Given the description of an element on the screen output the (x, y) to click on. 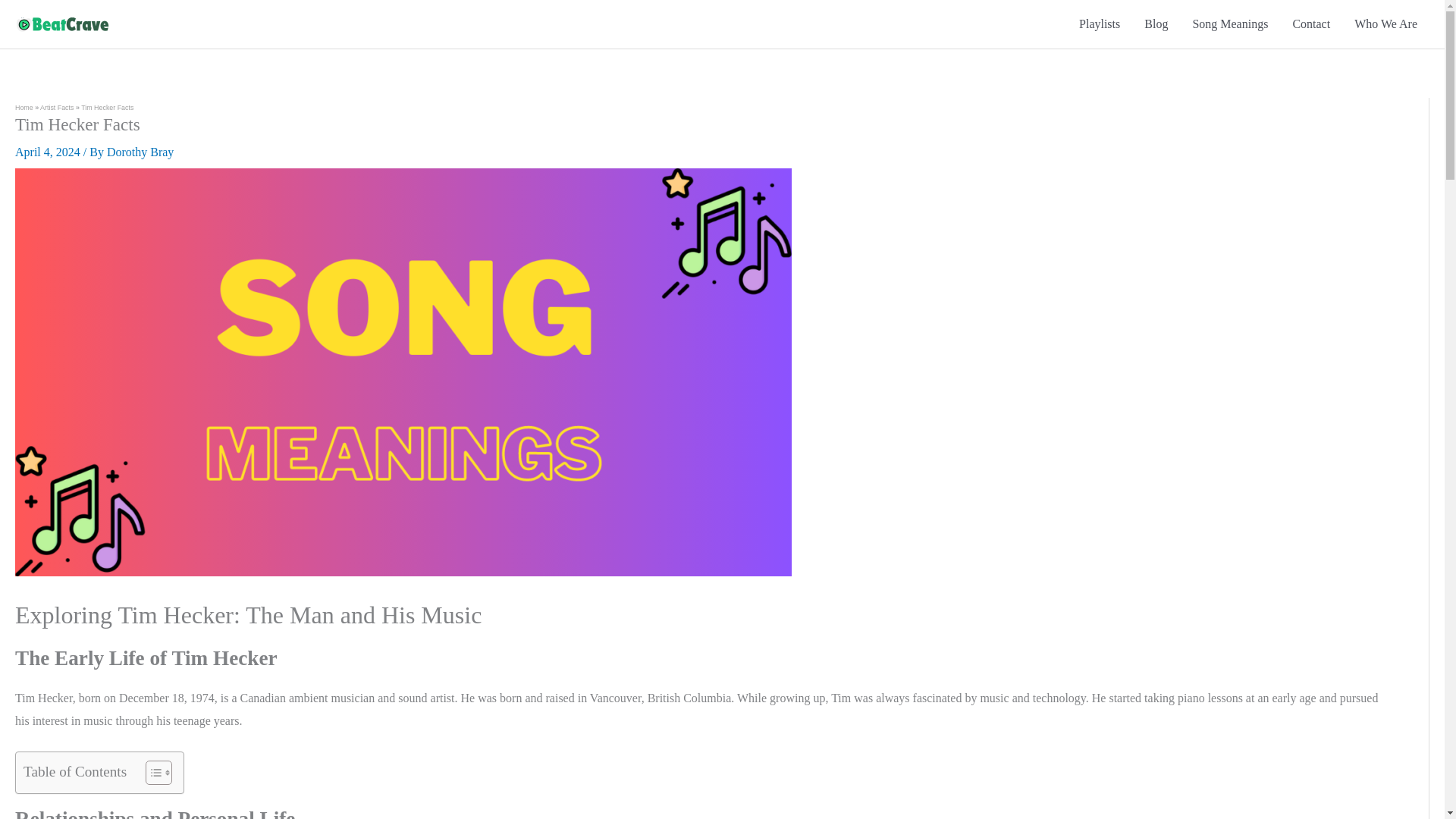
Artist Facts (57, 107)
View all posts by Dorothy Bray (139, 151)
Song Meanings (1229, 24)
Home (23, 107)
Contact (1310, 24)
Blog (1155, 24)
Who We Are (1385, 24)
Dorothy Bray (139, 151)
Playlists (1099, 24)
